Given the description of an element on the screen output the (x, y) to click on. 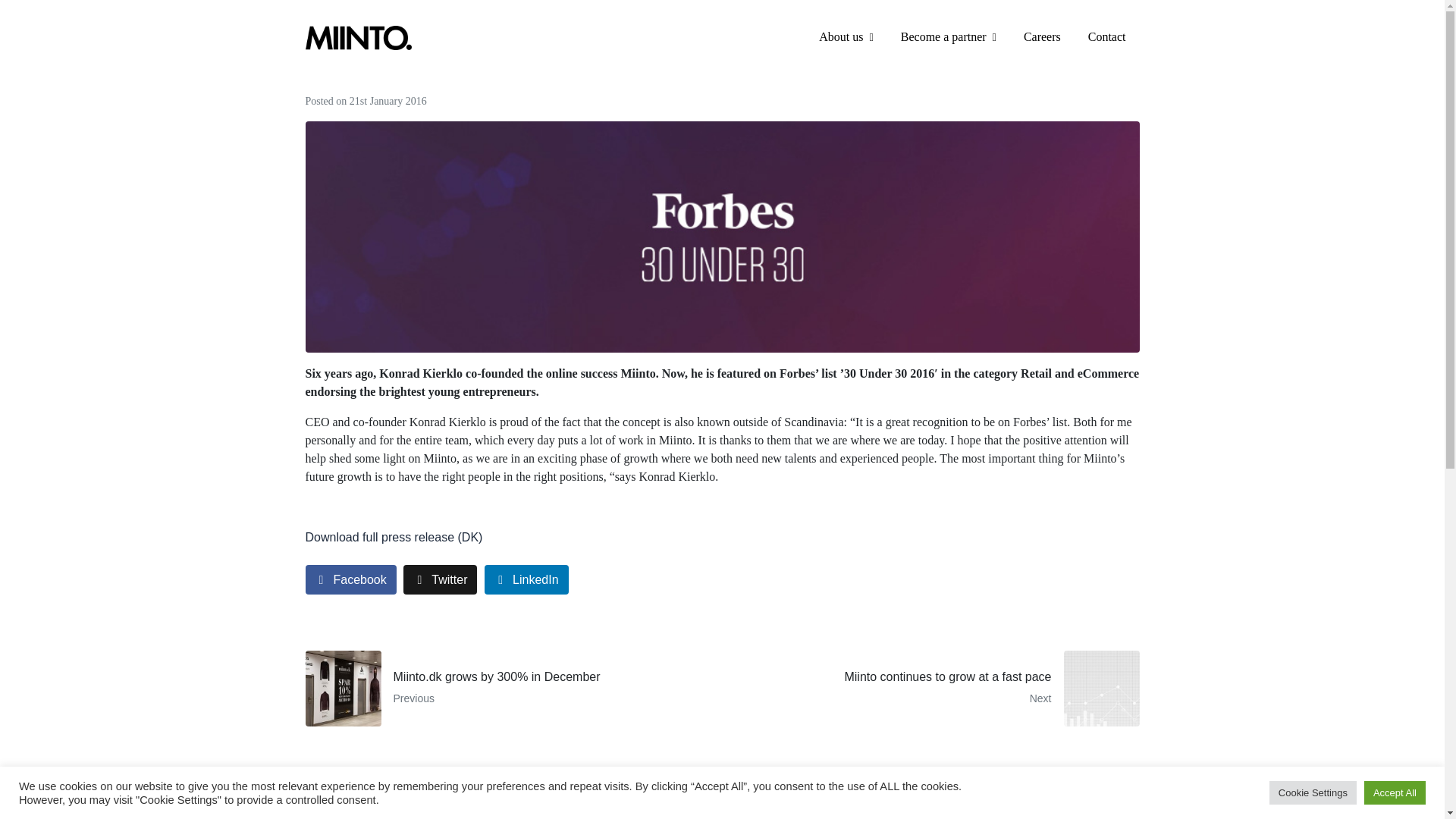
Miinto in growth sells goods for nearly 700 million DKK (1043, 815)
Miinto continues to grow at a fast pace (936, 688)
About us (845, 37)
Twitter (440, 579)
Facebook (936, 688)
Careers (350, 579)
LinkedIn (1042, 37)
